Given the description of an element on the screen output the (x, y) to click on. 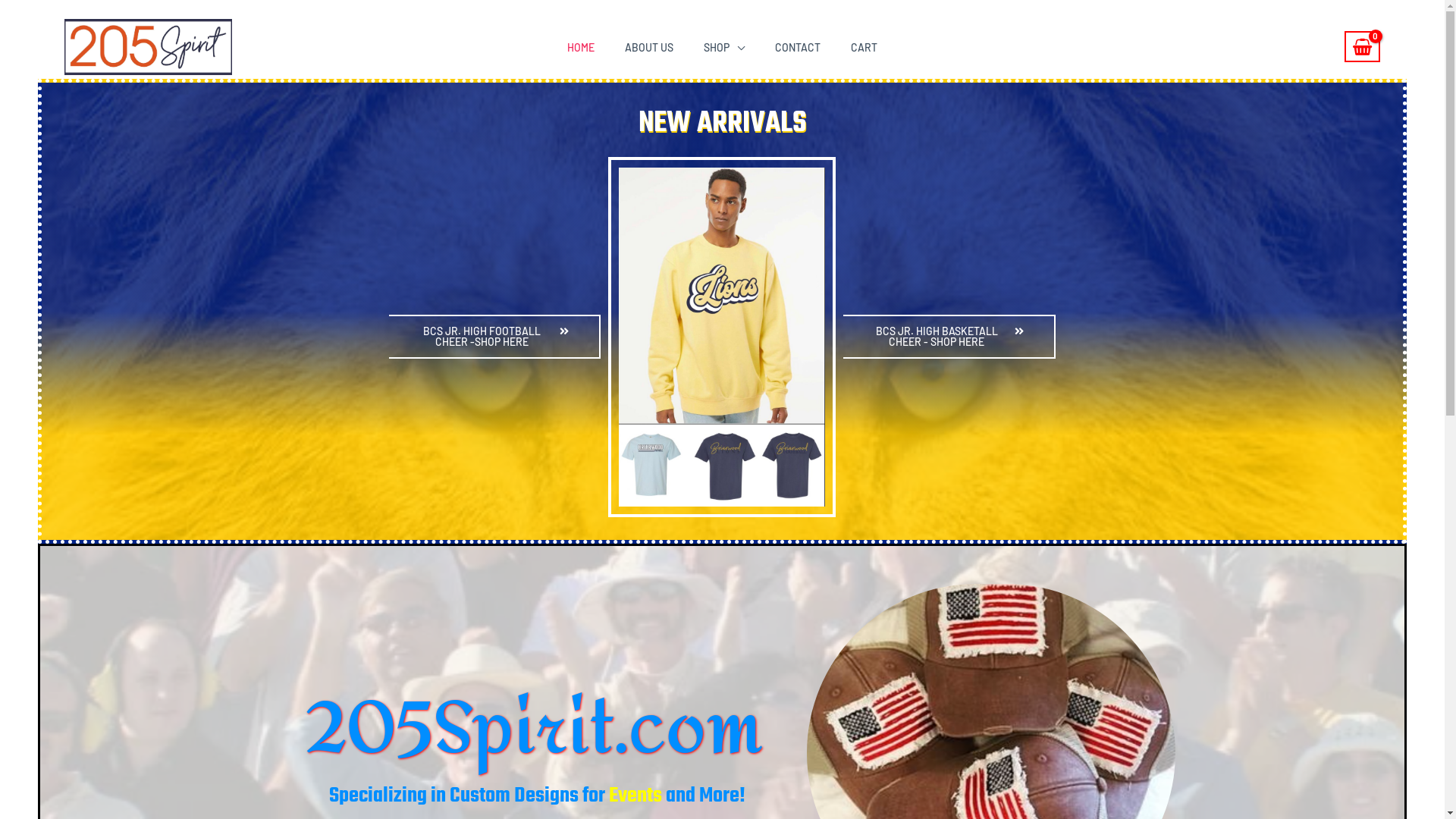
HOME Element type: text (580, 47)
BCS JR. HIGH FOOTBALL CHEER -SHOP HERE Element type: text (494, 336)
NEW ARRIVALS Element type: text (722, 123)
CART Element type: text (863, 47)
CONTACT Element type: text (797, 47)
BCS JR. HIGH BASKETALL CHEER - SHOP HERE Element type: text (949, 336)
ABOUT US Element type: text (648, 47)
SHOP Element type: text (723, 47)
